Given the description of an element on the screen output the (x, y) to click on. 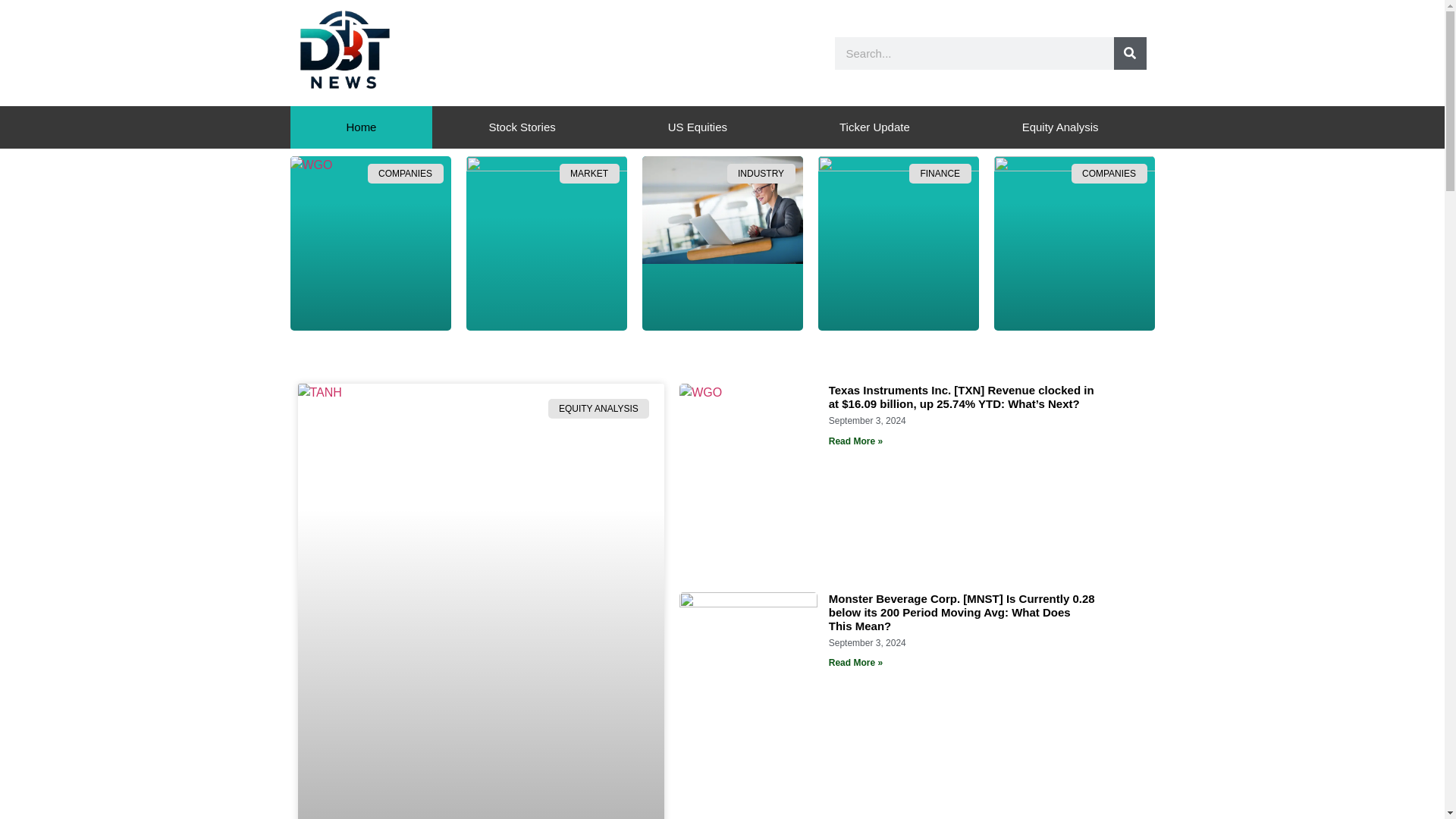
Ticker Update (874, 127)
Equity Analysis (1060, 127)
US Equities (697, 127)
Home (360, 127)
Stock Stories (521, 127)
